Given the description of an element on the screen output the (x, y) to click on. 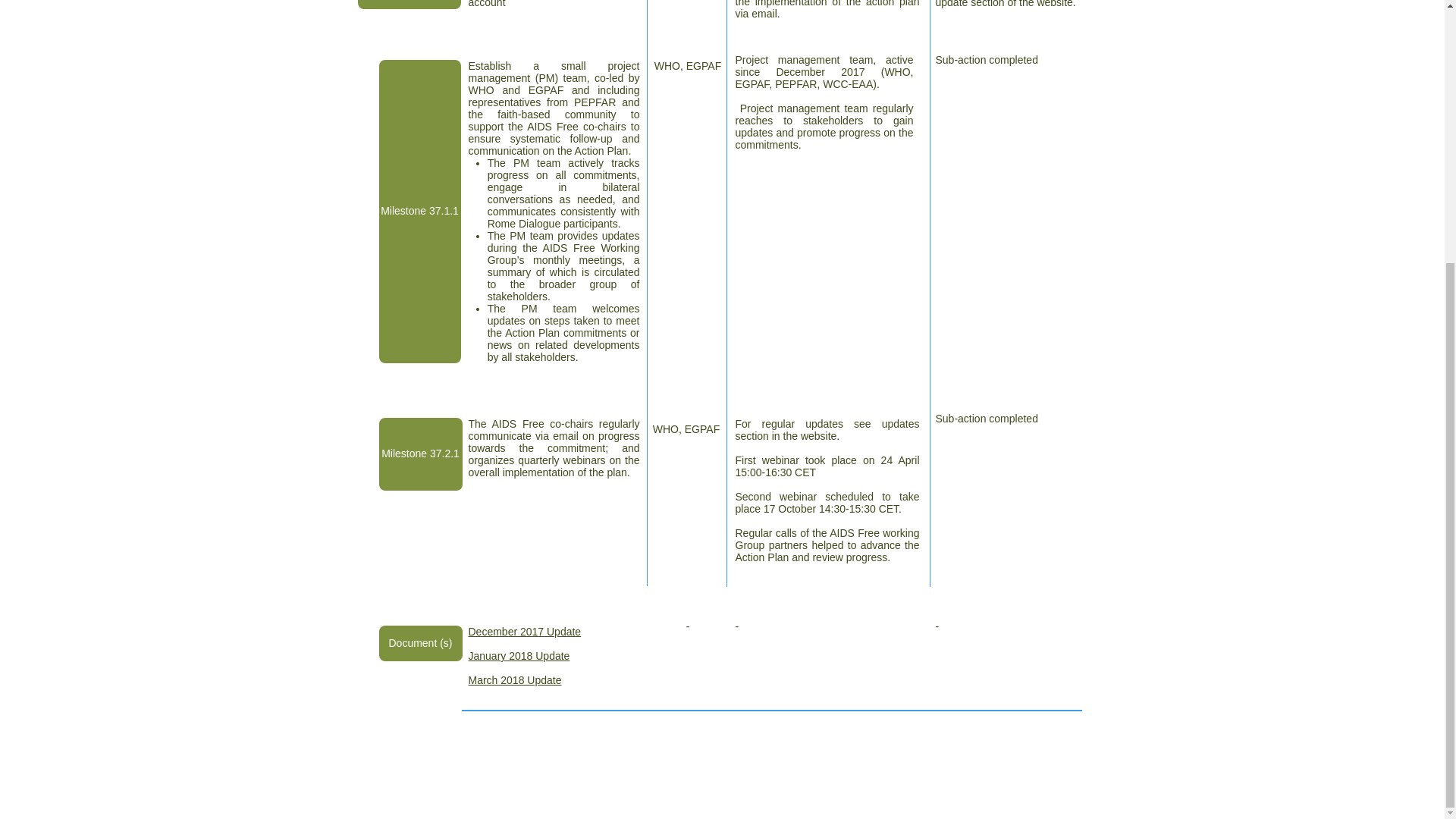
January 2018 Update (519, 655)
December 2017 Update (524, 631)
